Given the description of an element on the screen output the (x, y) to click on. 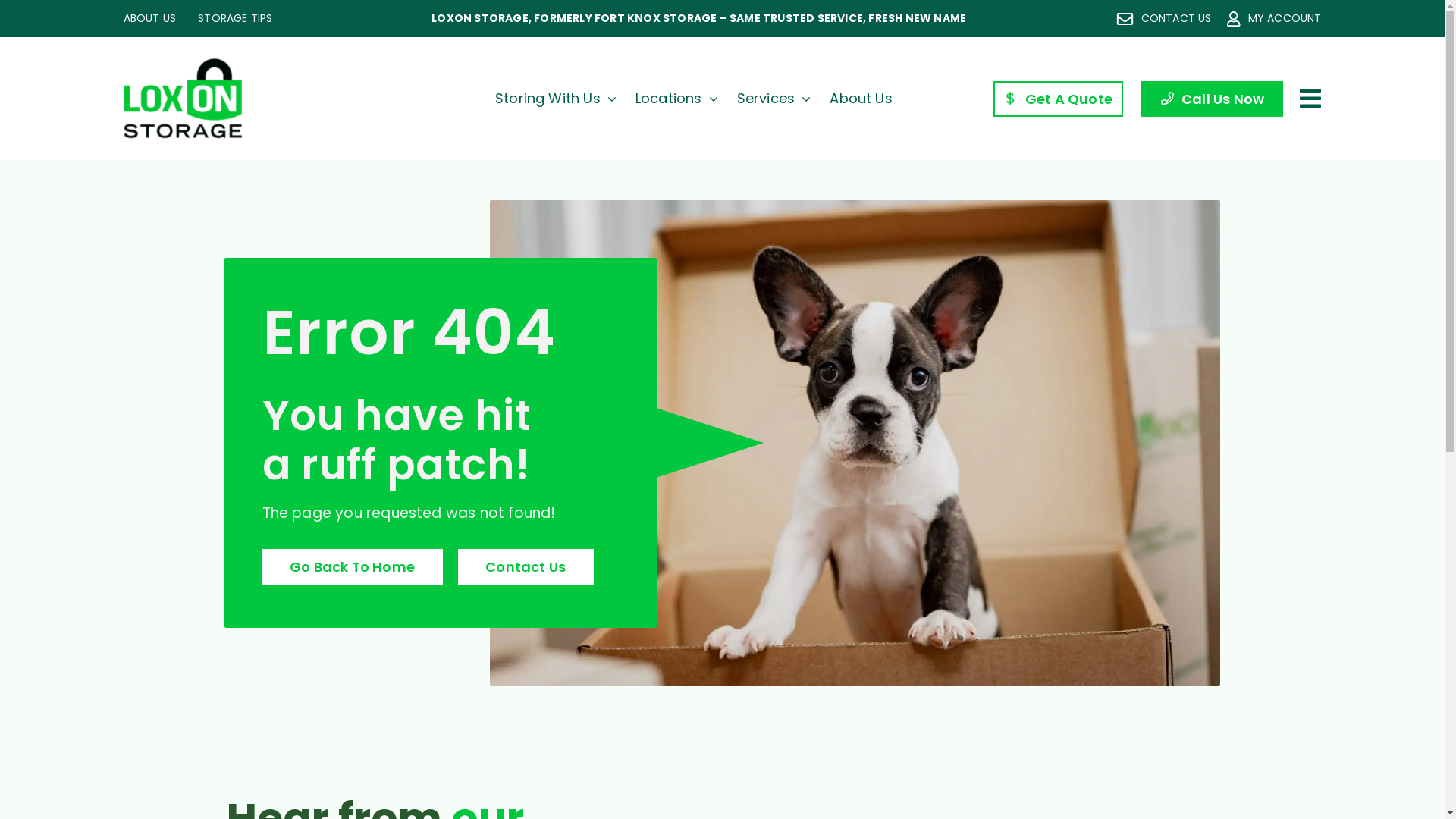
Get A Quote Element type: text (1058, 98)
Locations Element type: text (676, 98)
CONTACT US Element type: text (1163, 18)
Call Us Now Element type: text (1212, 98)
ABOUT US Element type: text (148, 17)
STORAGE TIPS Element type: text (234, 17)
Contact Us Element type: text (525, 566)
Services Element type: text (774, 98)
MY ACCOUNT Element type: text (1273, 18)
Storing With Us Element type: text (555, 98)
Go Back To Home Element type: text (352, 566)
About Us Element type: text (860, 98)
